Given the description of an element on the screen output the (x, y) to click on. 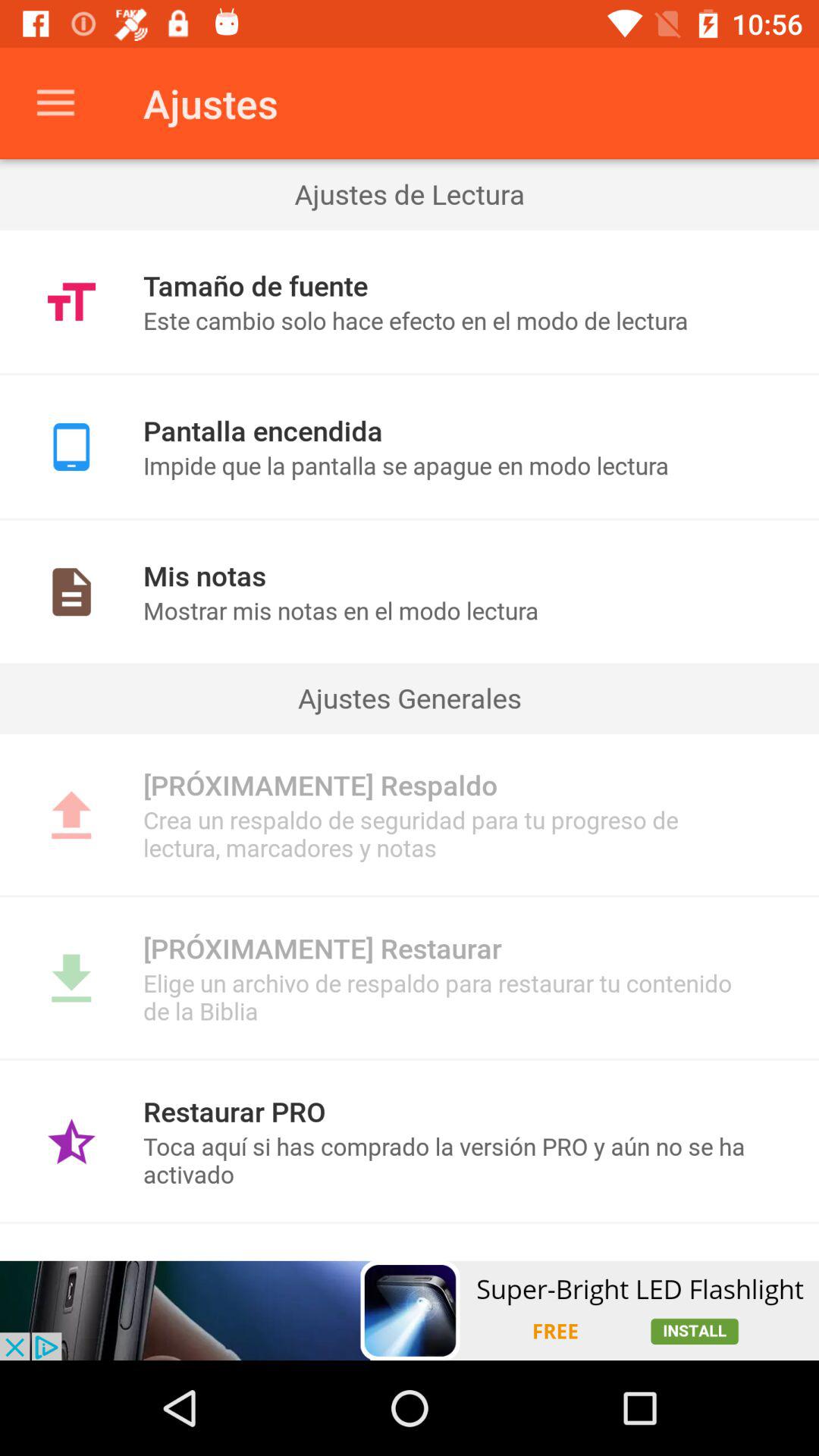
launch the item above restaurar pro (409, 1059)
